Given the description of an element on the screen output the (x, y) to click on. 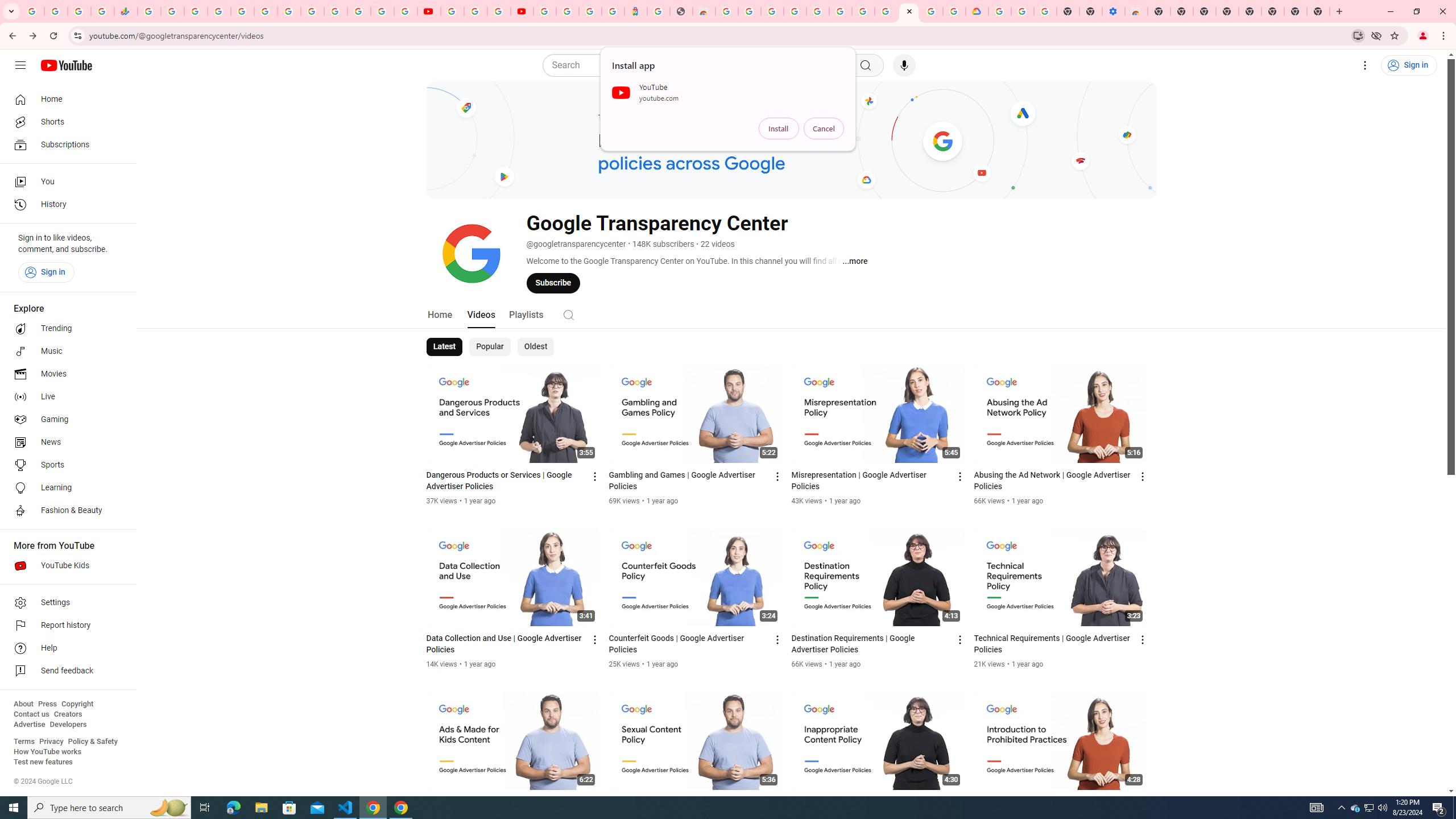
News (64, 441)
Videos (481, 314)
New Tab (1318, 11)
Copyright (77, 703)
Create your Google Account (749, 11)
Contact us (31, 714)
Oldest (534, 346)
